Given the description of an element on the screen output the (x, y) to click on. 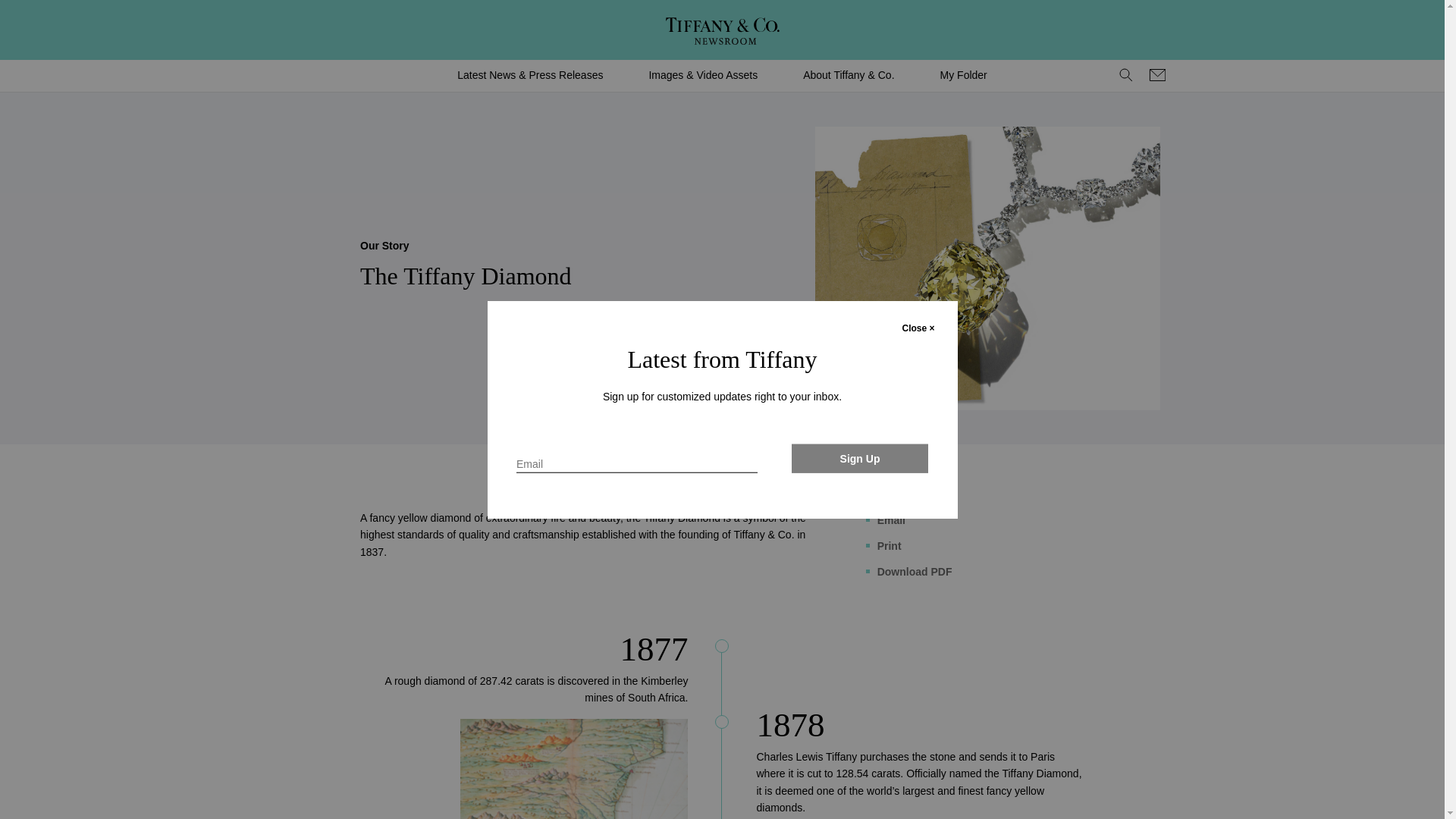
Sign Up (860, 457)
